Given the description of an element on the screen output the (x, y) to click on. 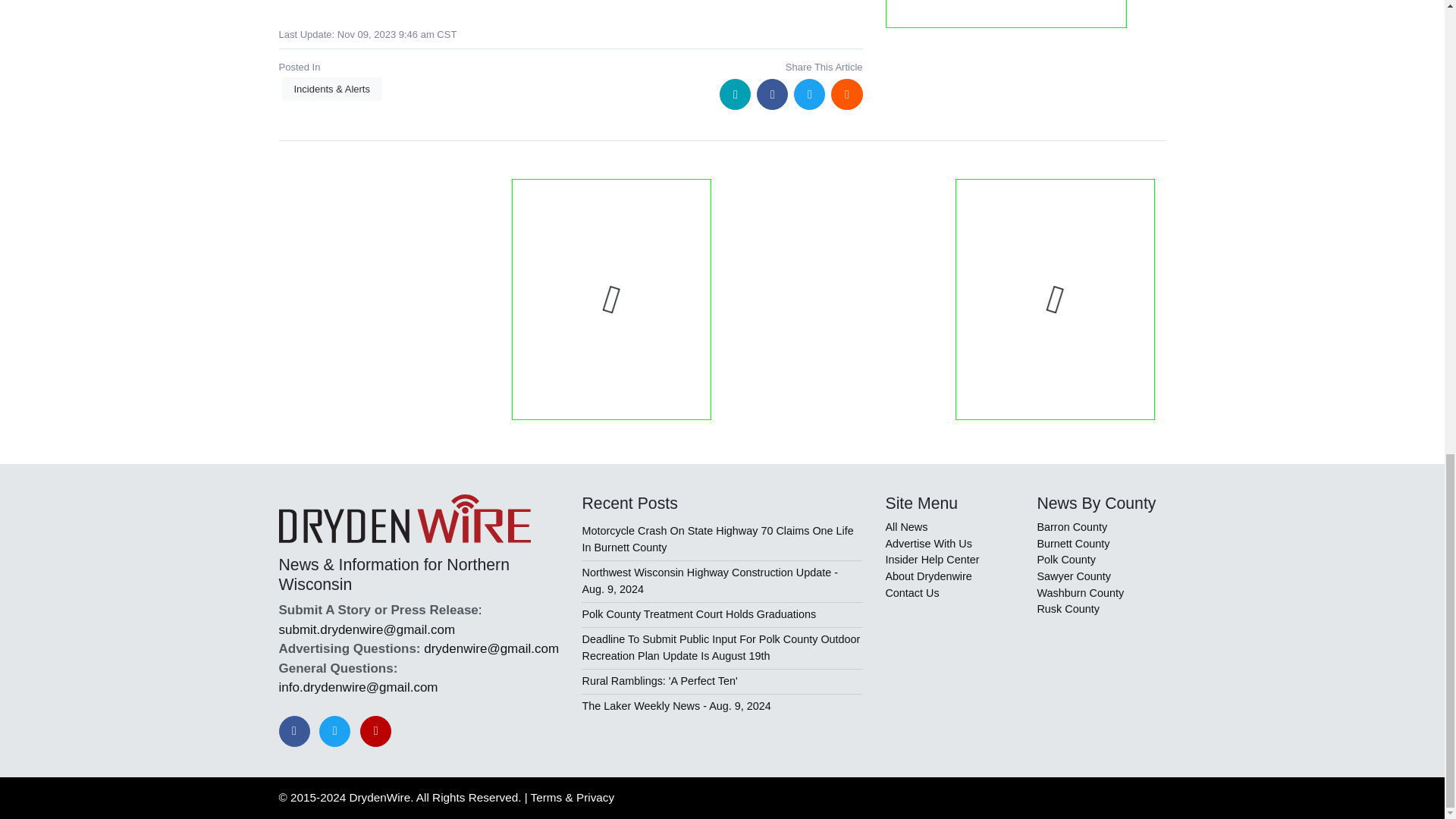
twitter (809, 93)
reddit (846, 93)
email (735, 93)
facebook (772, 93)
